Given the description of an element on the screen output the (x, y) to click on. 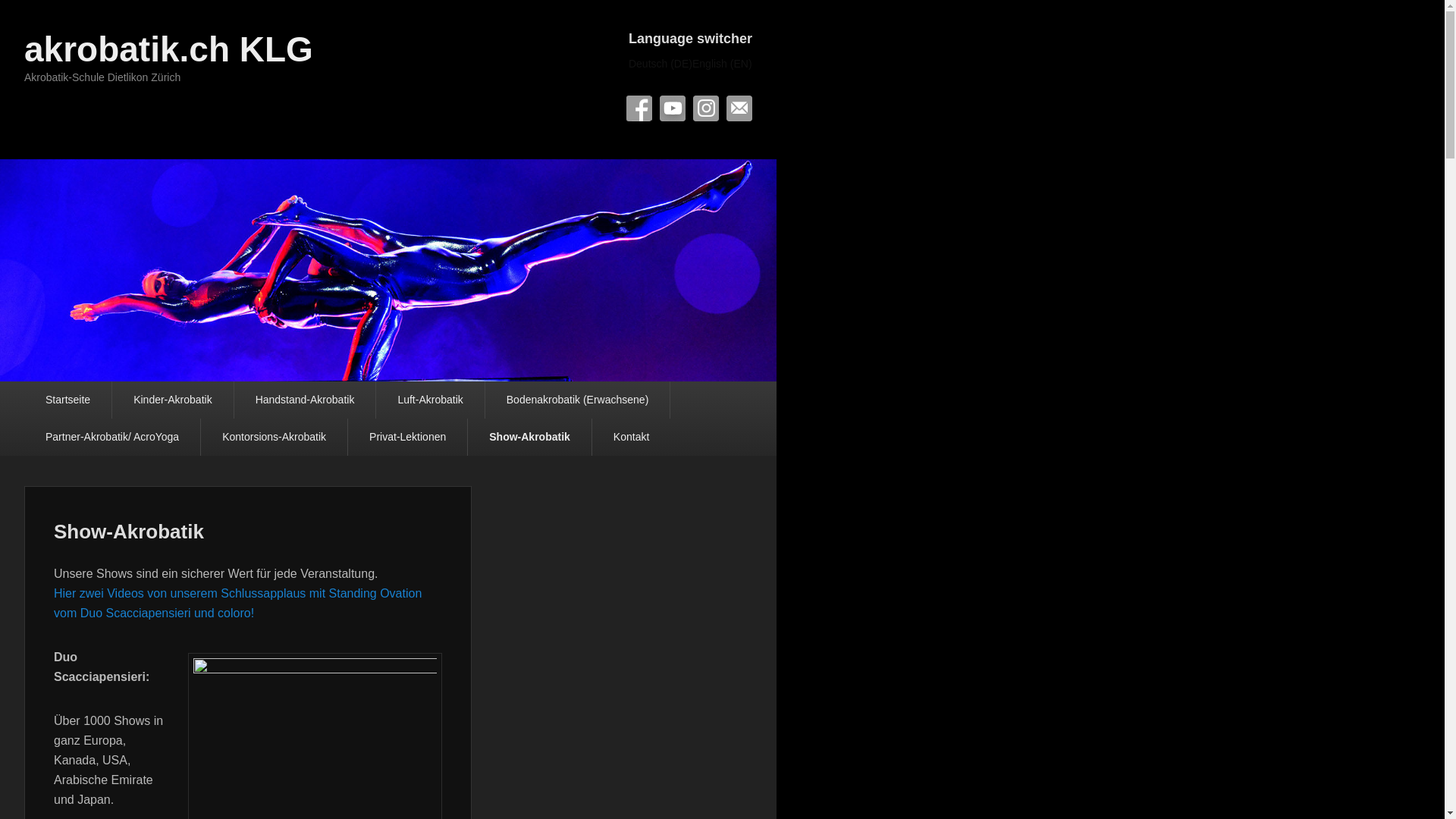
Show-Akrobatik Element type: text (529, 436)
Startseite Element type: text (67, 399)
Partner-Akrobatik/ AcroYoga Element type: text (112, 436)
Kontakt Element type: text (631, 436)
Handstand-Akrobatik Element type: text (305, 399)
Bodenakrobatik (Erwachsene) Element type: text (577, 399)
Kinder-Akrobatik Element type: text (172, 399)
E-Mail Element type: text (739, 108)
Privat-Lektionen Element type: text (407, 436)
Luft-Akrobatik Element type: text (429, 399)
YouTube Element type: text (672, 108)
Instagram Element type: text (705, 108)
akrobatik.ch KLG Element type: text (168, 49)
Facebook Element type: text (639, 108)
Kontorsions-Akrobatik Element type: text (273, 436)
Show-Akrobatik Element type: text (128, 531)
